Given the description of an element on the screen output the (x, y) to click on. 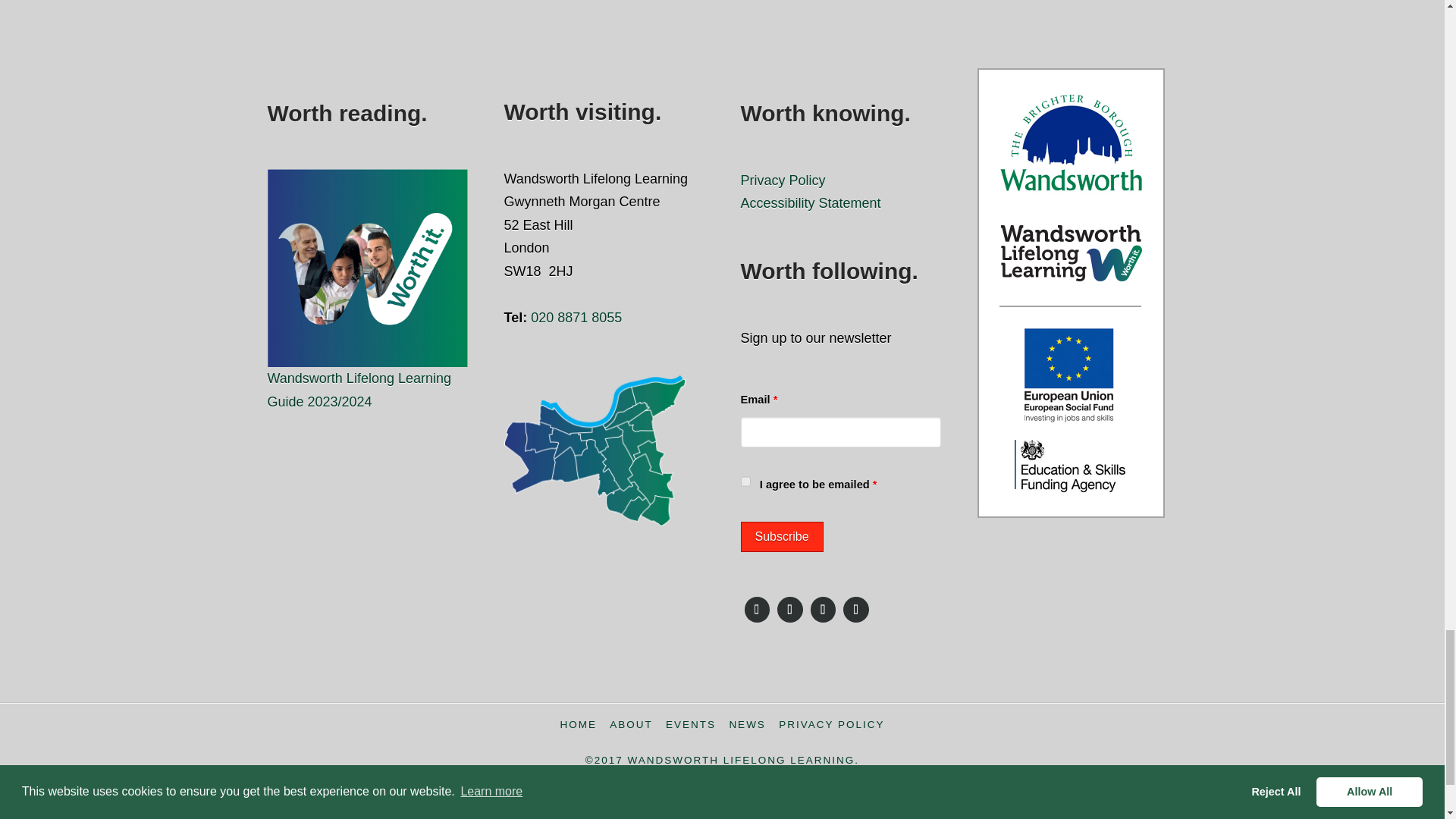
Facebook (756, 609)
Linkedin (856, 609)
Instagram (823, 609)
Subscribe (780, 536)
X (789, 609)
